Given the description of an element on the screen output the (x, y) to click on. 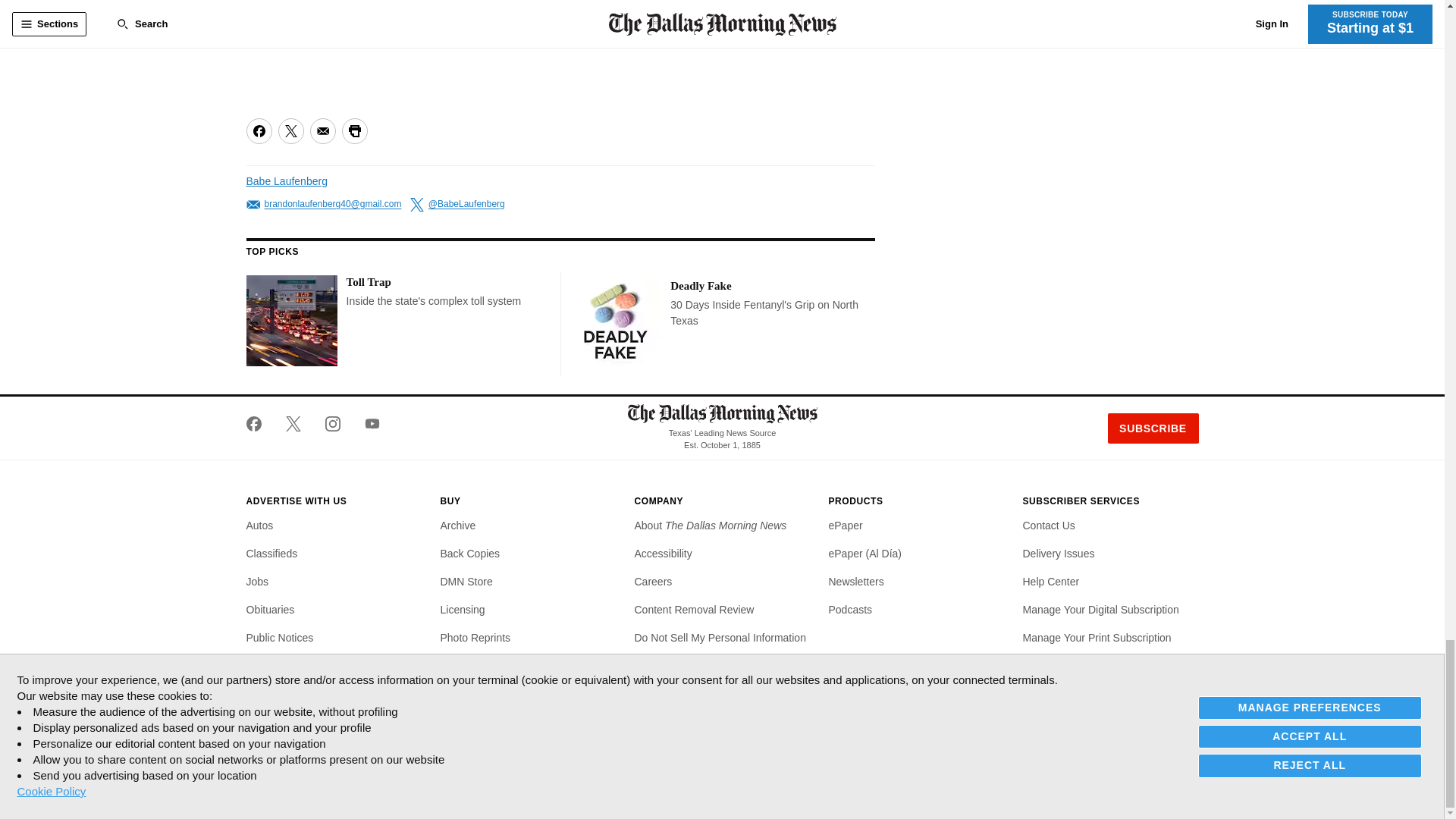
The Dallas Morning News on YouTube (365, 423)
The Dallas Morning News on Facebook (259, 423)
Share on Facebook (258, 130)
Share via Email (321, 130)
The Dallas Morning News on Instagram (332, 423)
The Dallas Morning News on Twitter (293, 423)
Share on Twitter (290, 130)
Print (353, 130)
